Given the description of an element on the screen output the (x, y) to click on. 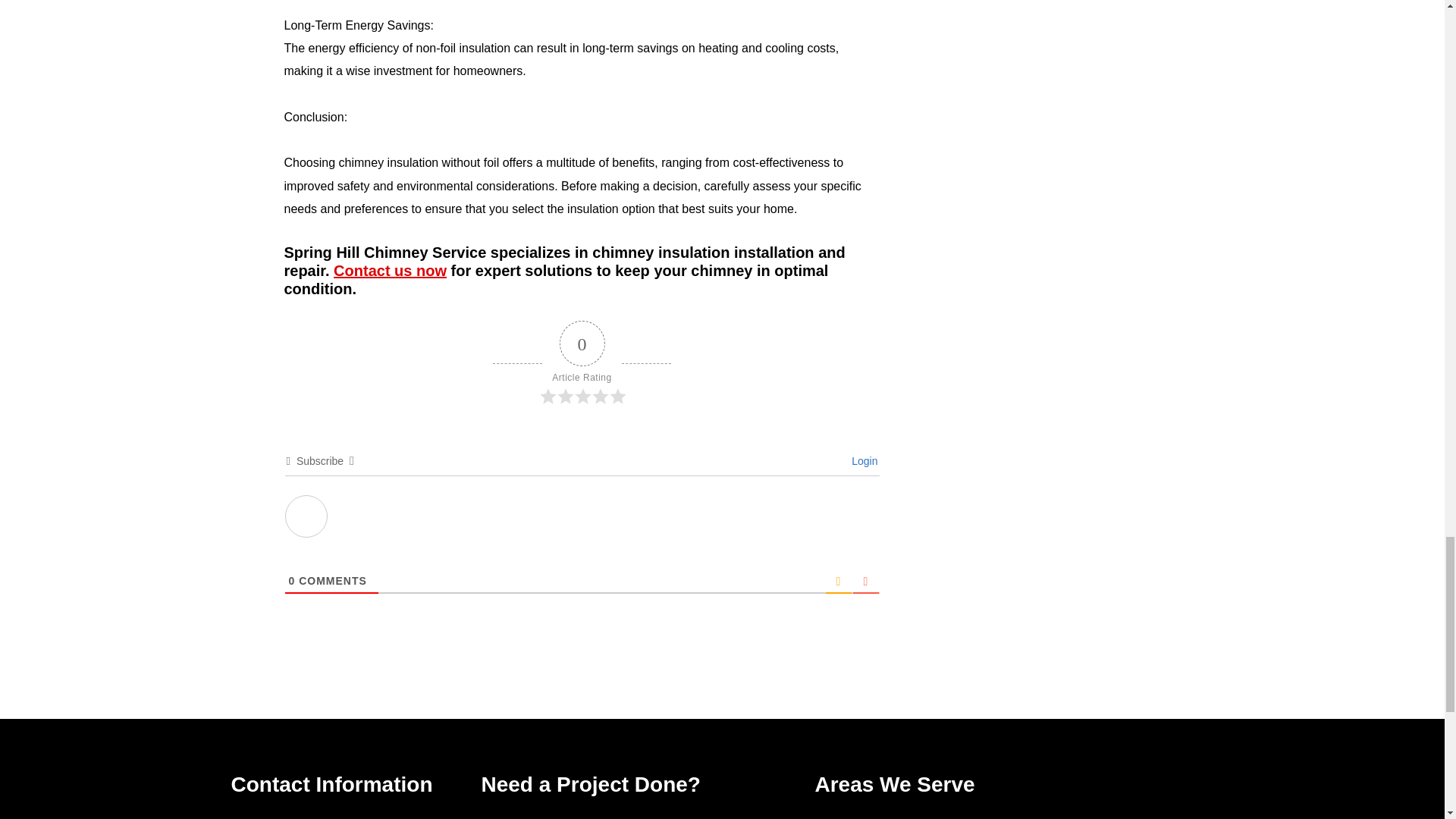
Contact us now (389, 270)
Login (862, 460)
